Given the description of an element on the screen output the (x, y) to click on. 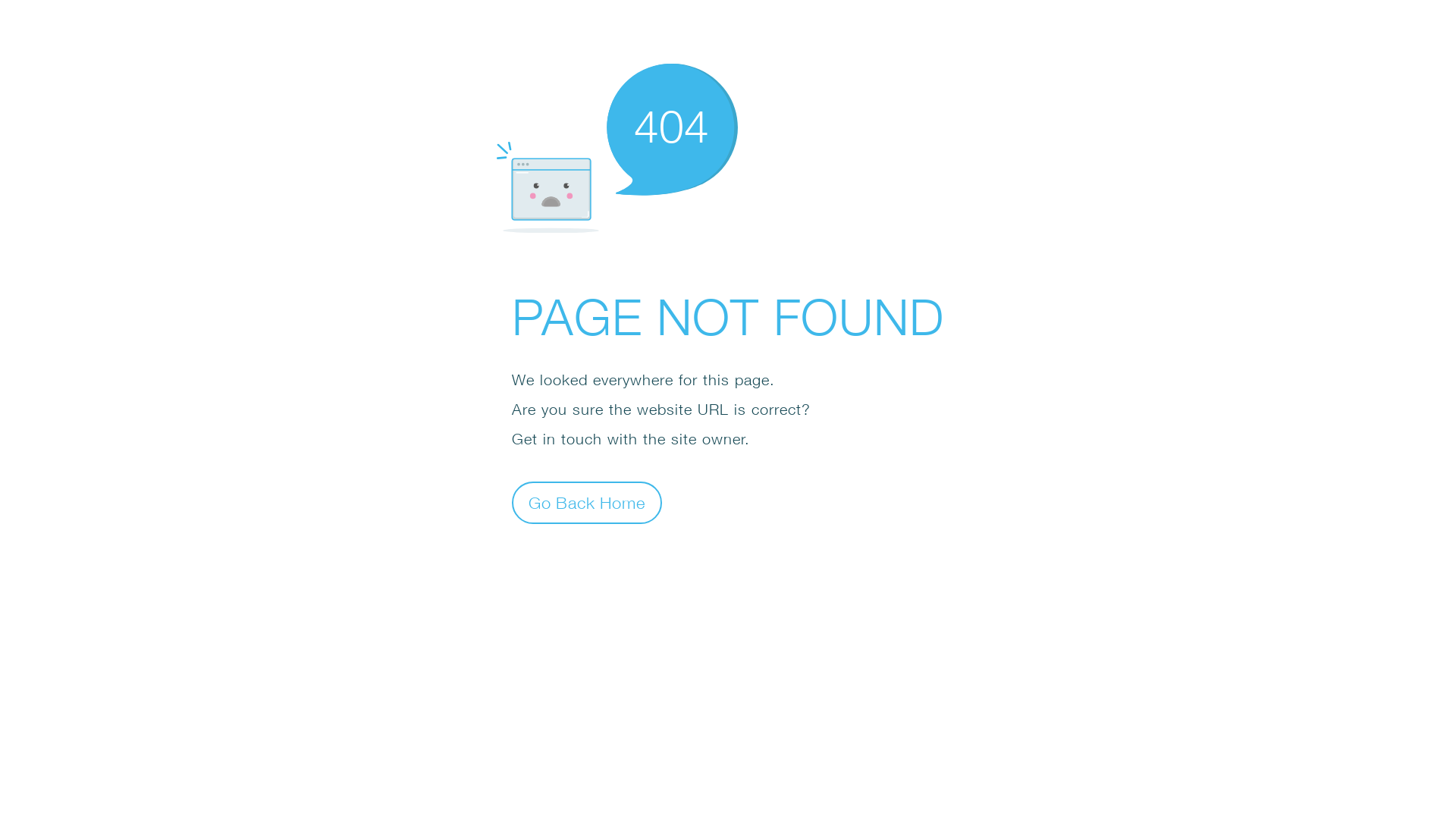
Go Back Home Element type: text (586, 502)
